Given the description of an element on the screen output the (x, y) to click on. 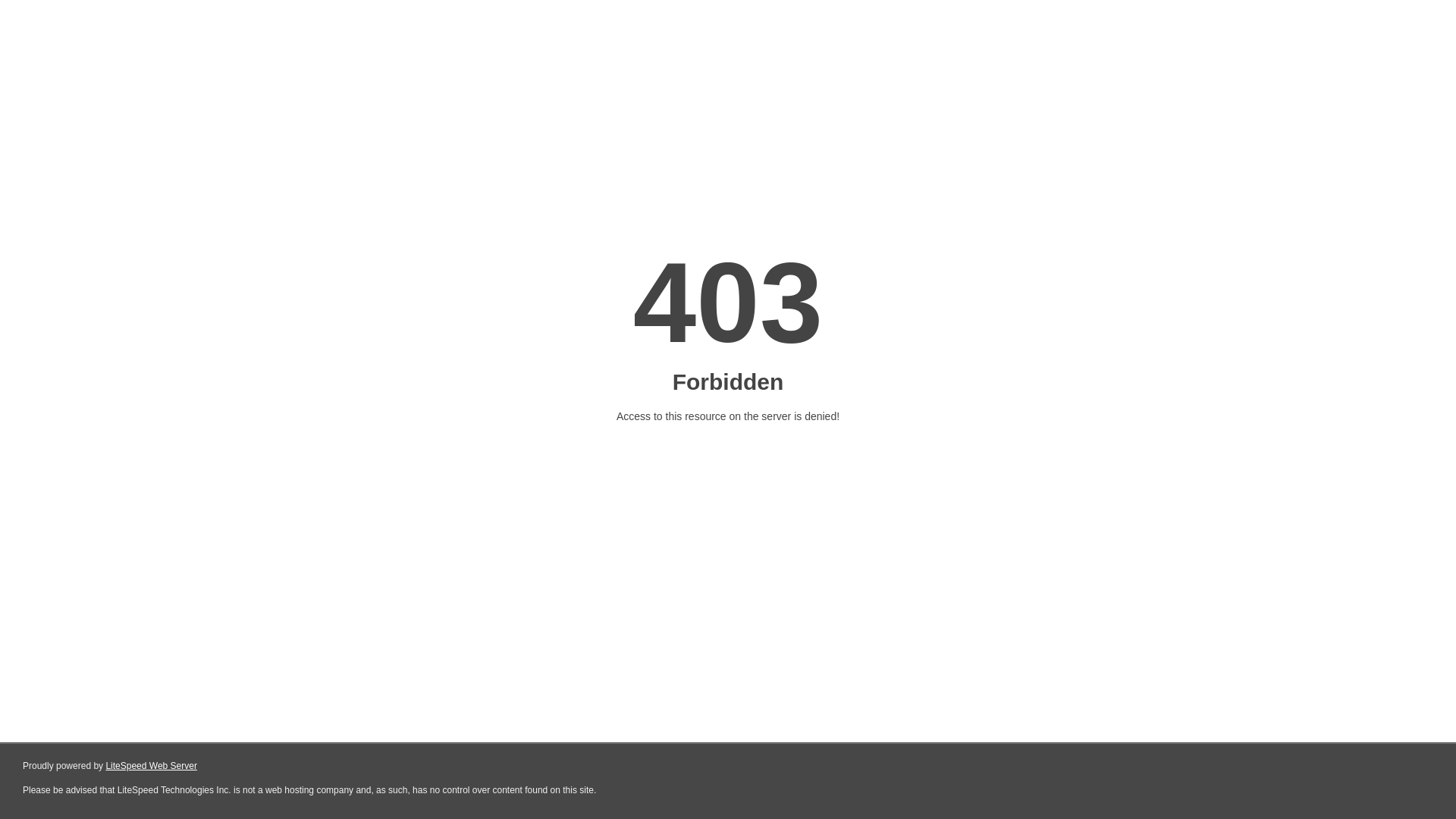
LiteSpeed Web Server Element type: text (151, 765)
